Given the description of an element on the screen output the (x, y) to click on. 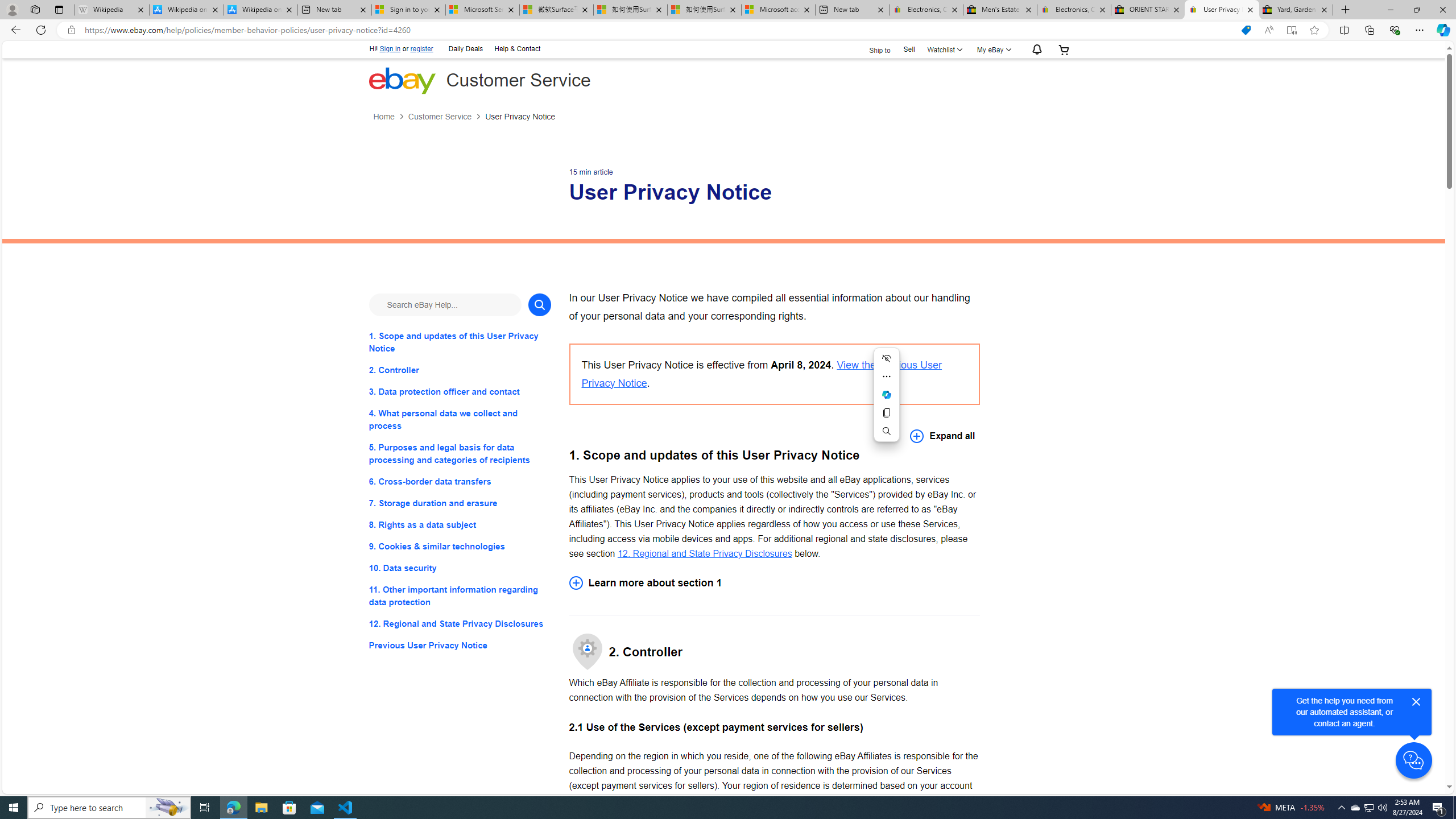
Previous User Privacy Notice (459, 645)
3. Data protection officer and contact (459, 391)
Mini menu on text selection (886, 394)
register (421, 49)
1. Scope and updates of this User Privacy Notice (459, 341)
My eBay (992, 49)
More actions (886, 376)
Copy (886, 412)
10. Data security (459, 567)
